Given the description of an element on the screen output the (x, y) to click on. 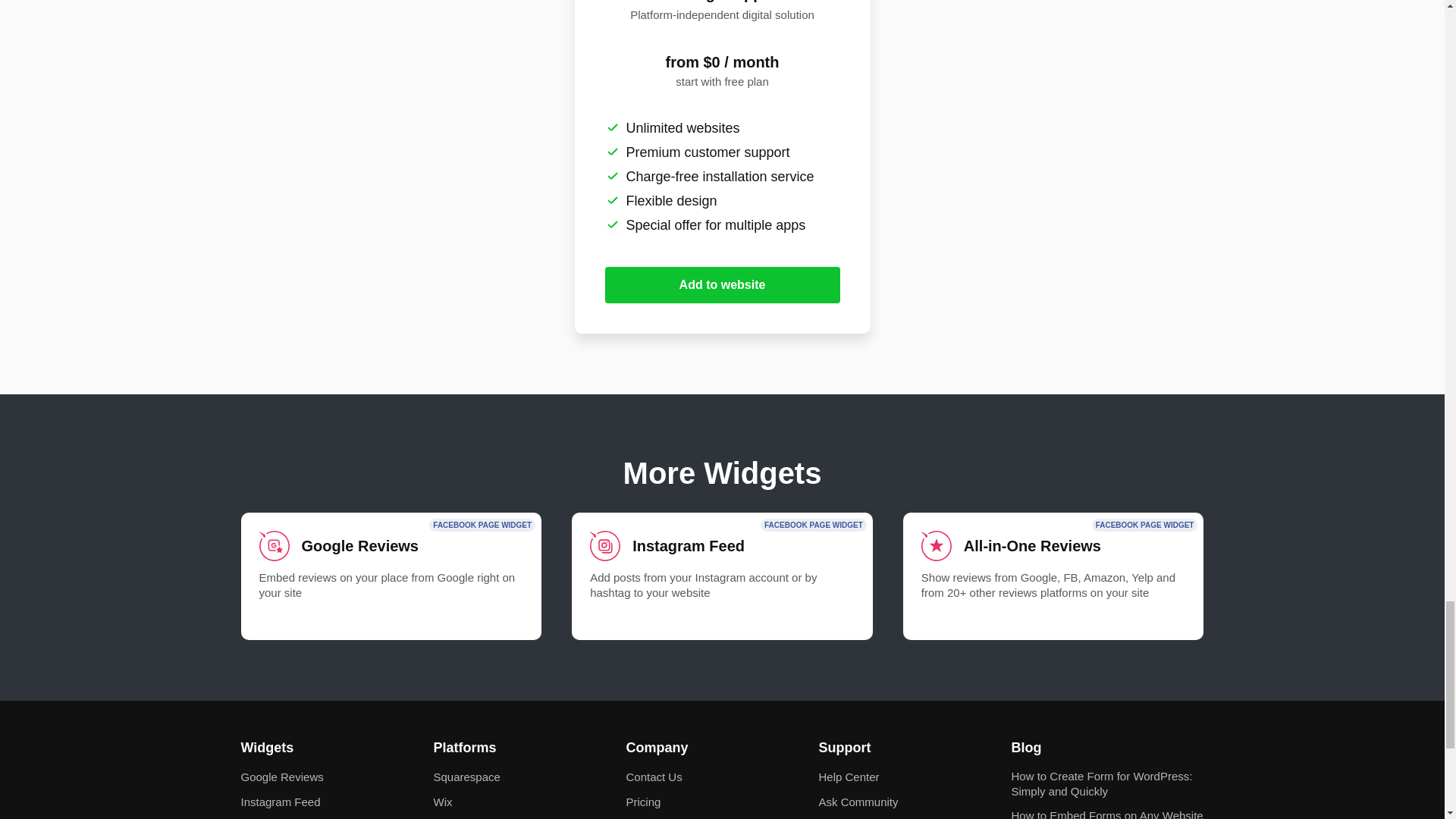
Instagram Feed (722, 575)
Google Reviews (391, 575)
All-in-One Reviews (1053, 575)
